Given the description of an element on the screen output the (x, y) to click on. 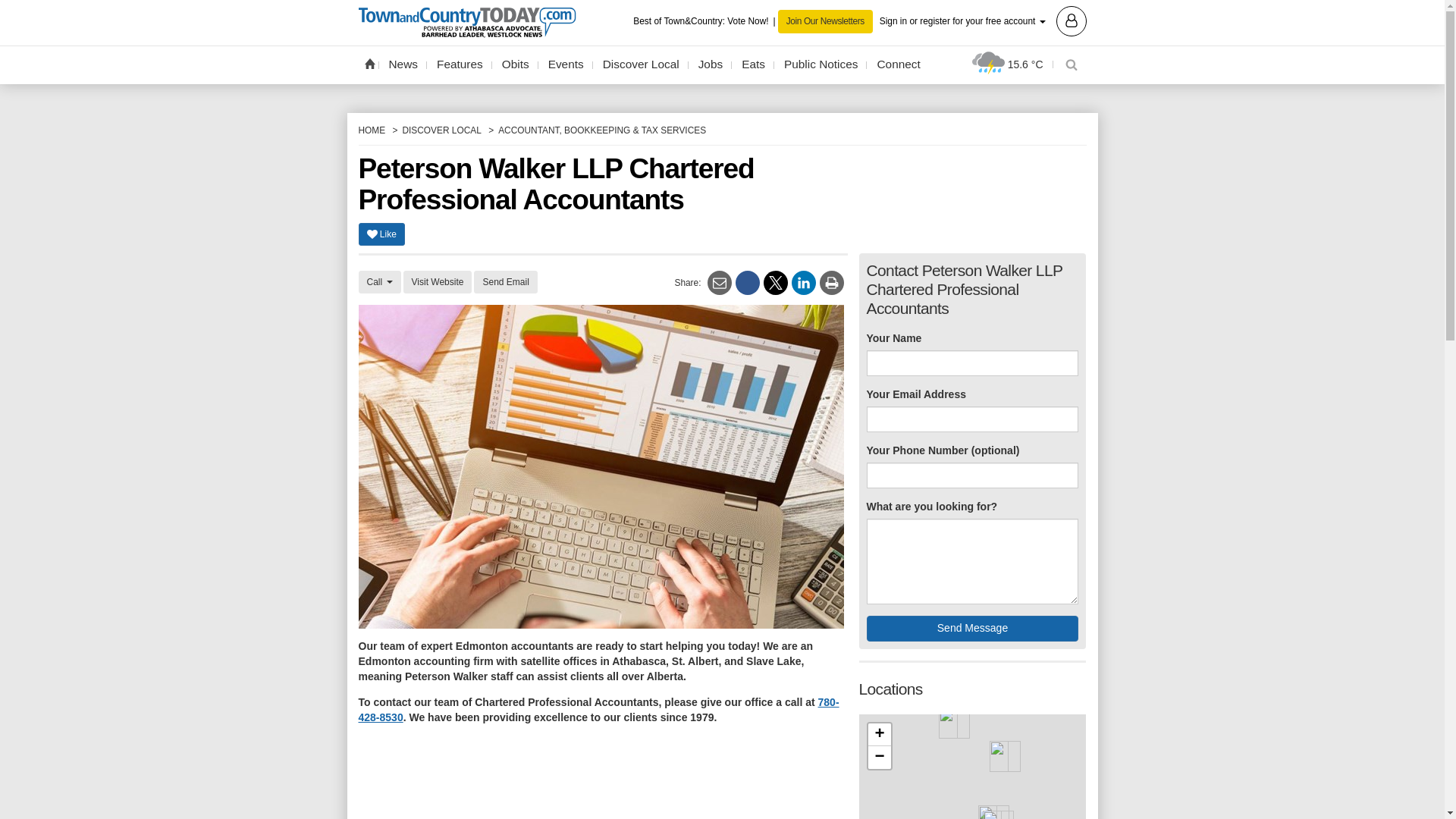
Zoom in (878, 734)
Like this organization (381, 233)
Zoom out (878, 757)
Sign in or register for your free account (982, 20)
Join Our Newsletters (824, 21)
Home (368, 63)
